Given the description of an element on the screen output the (x, y) to click on. 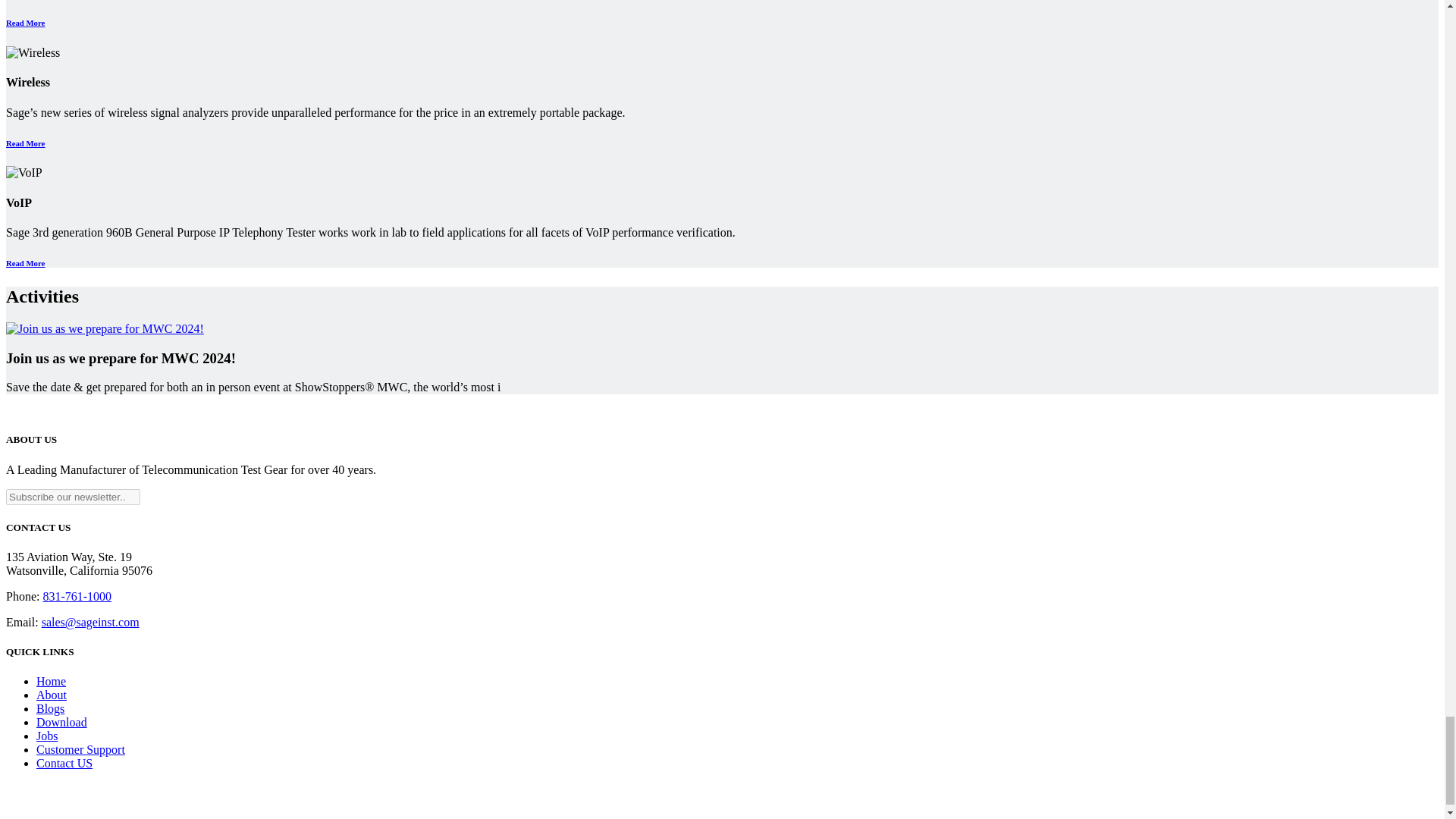
VoIP (23, 172)
Join us as we prepare for MWC 2024! (104, 328)
Wireless (32, 52)
